Given the description of an element on the screen output the (x, y) to click on. 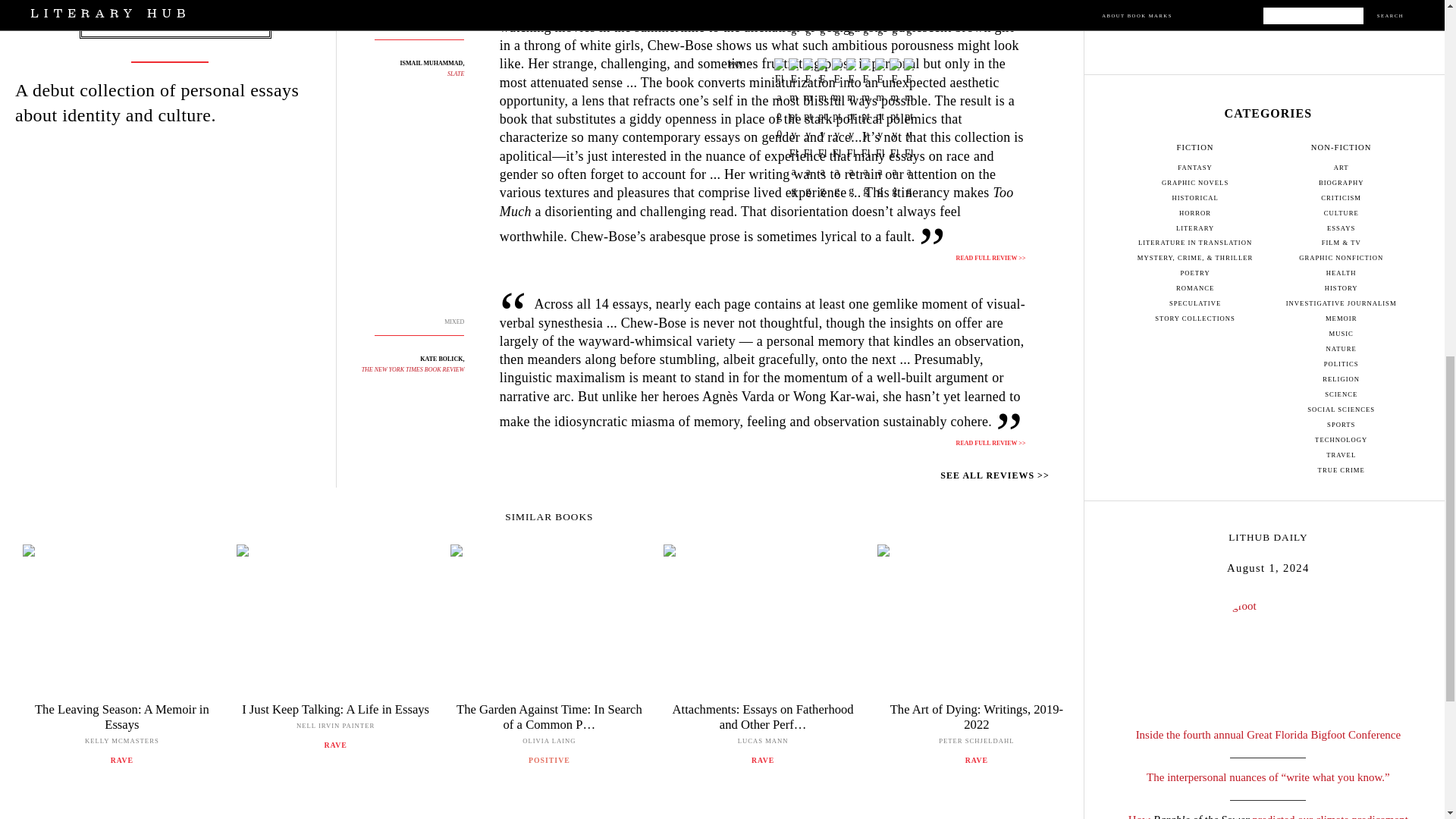
NON-FICTION (174, 25)
ESSAYS (174, 11)
SLATE (455, 73)
Sign up (1267, 4)
ISMAIL MUHAMMAD, (432, 62)
THE NEW YORK TIMES BOOK REVIEW (412, 369)
KATE BOLICK, (442, 358)
